Given the description of an element on the screen output the (x, y) to click on. 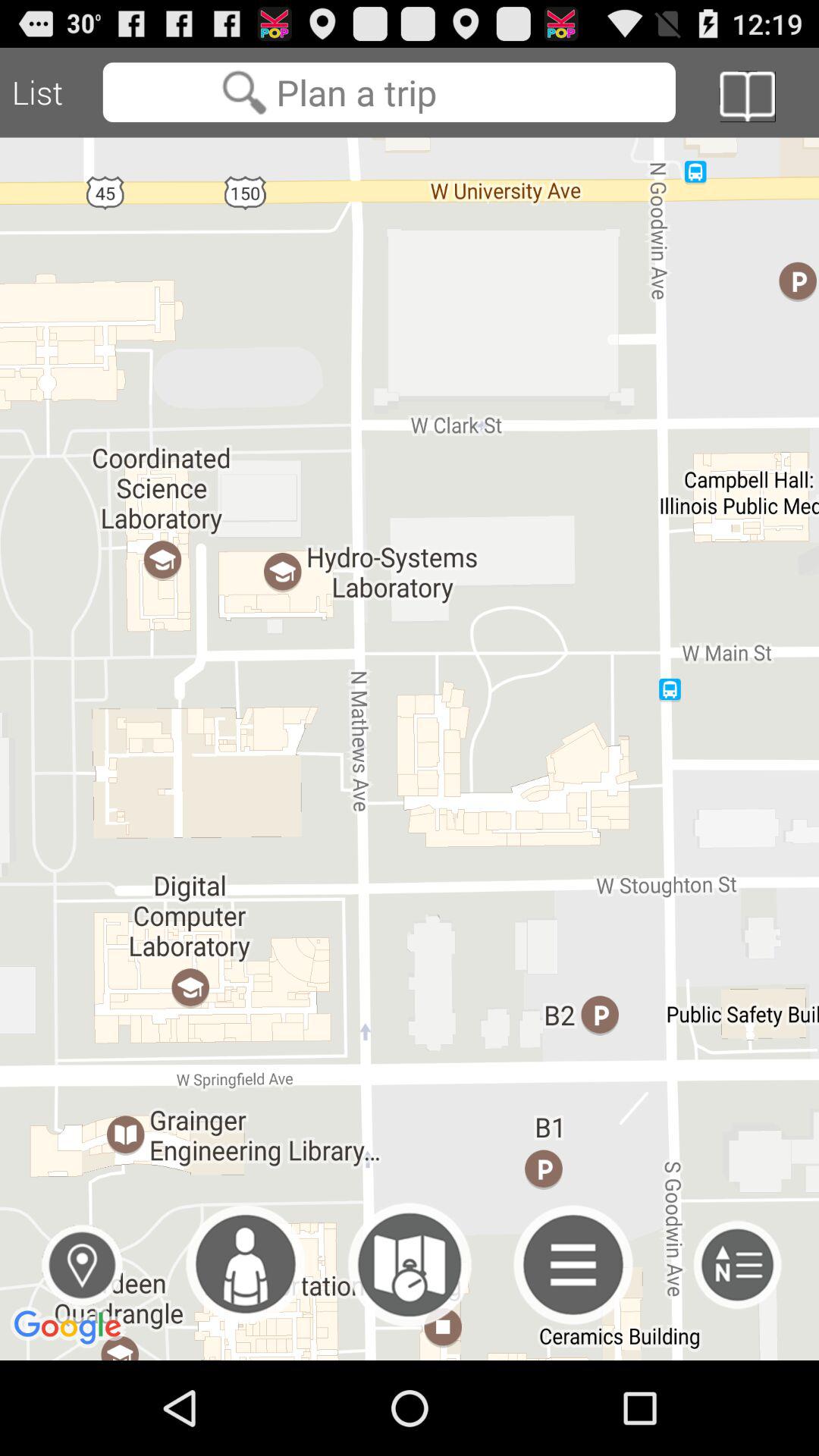
turn off the app at the top left corner (51, 92)
